Given the description of an element on the screen output the (x, y) to click on. 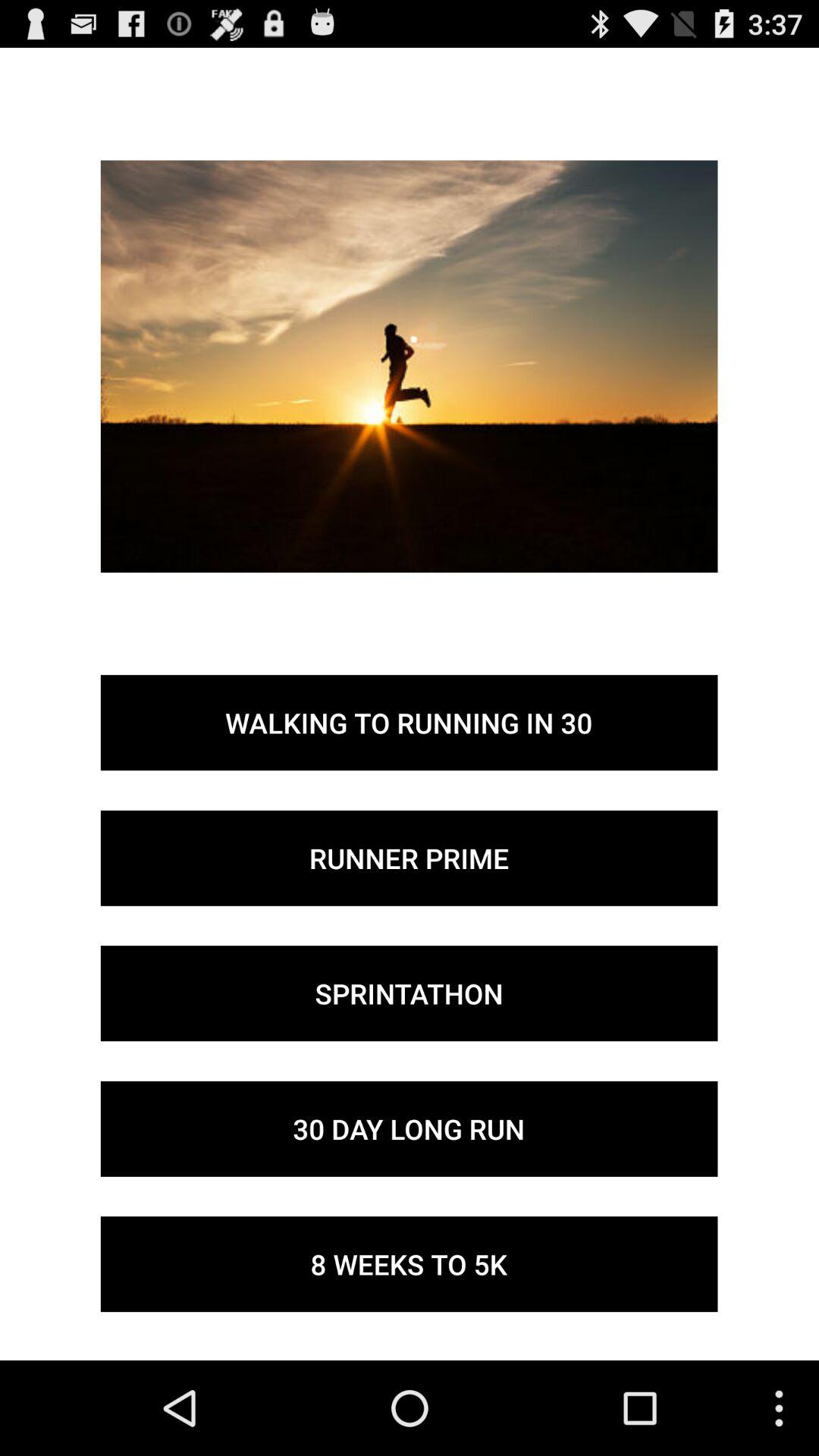
flip to the runner prime icon (408, 858)
